Given the description of an element on the screen output the (x, y) to click on. 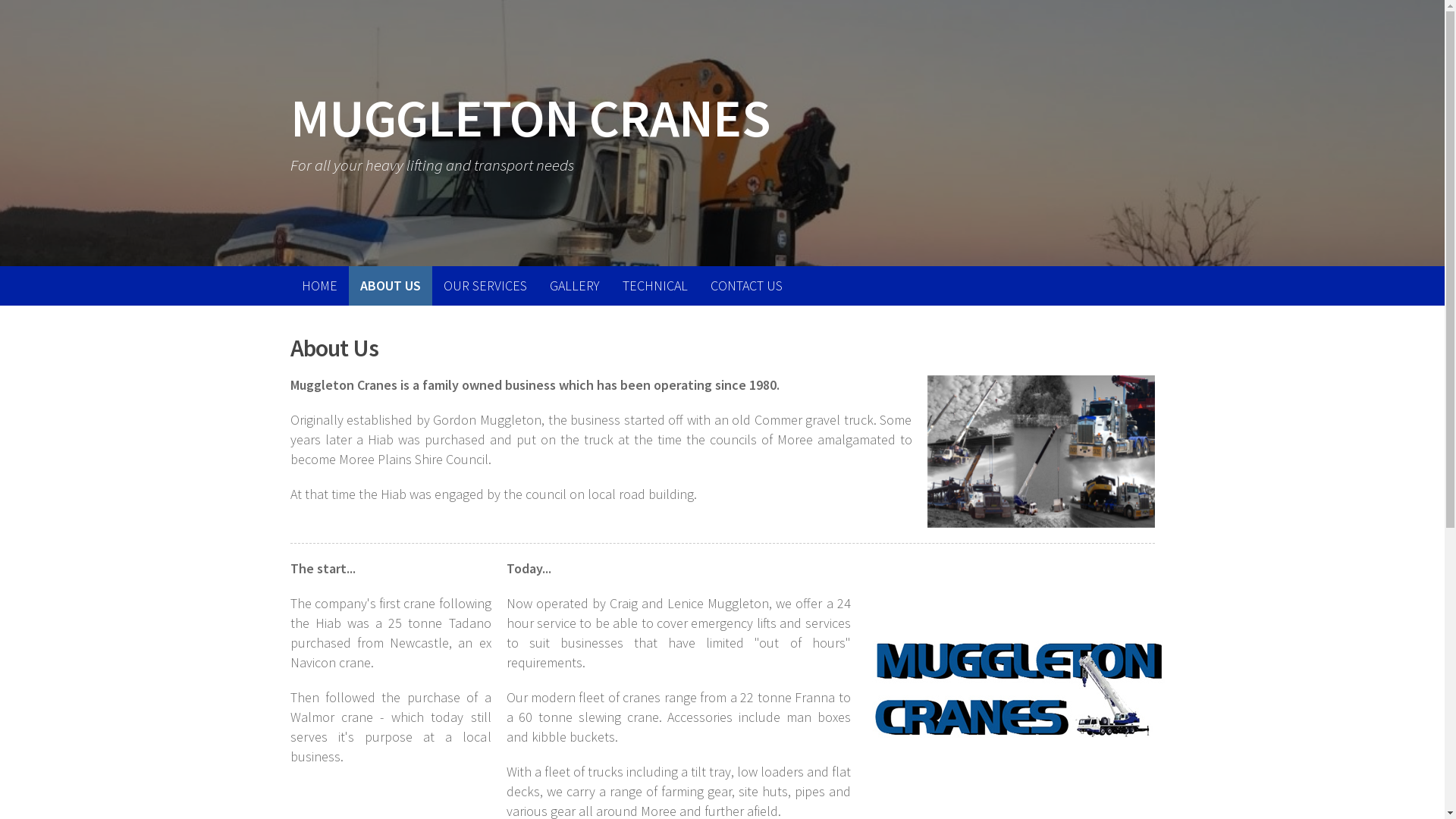
OUR SERVICES Element type: text (485, 285)
HOME Element type: text (318, 285)
GALLERY Element type: text (574, 285)
ABOUT US Element type: text (390, 285)
CONTACT US Element type: text (746, 285)
TECHNICAL Element type: text (655, 285)
